Given the description of an element on the screen output the (x, y) to click on. 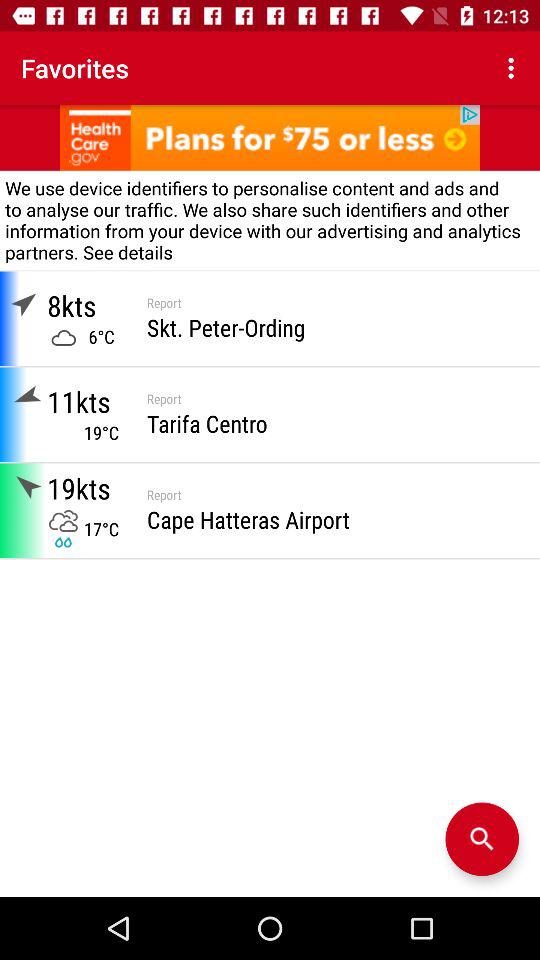
search the option (482, 839)
